Given the description of an element on the screen output the (x, y) to click on. 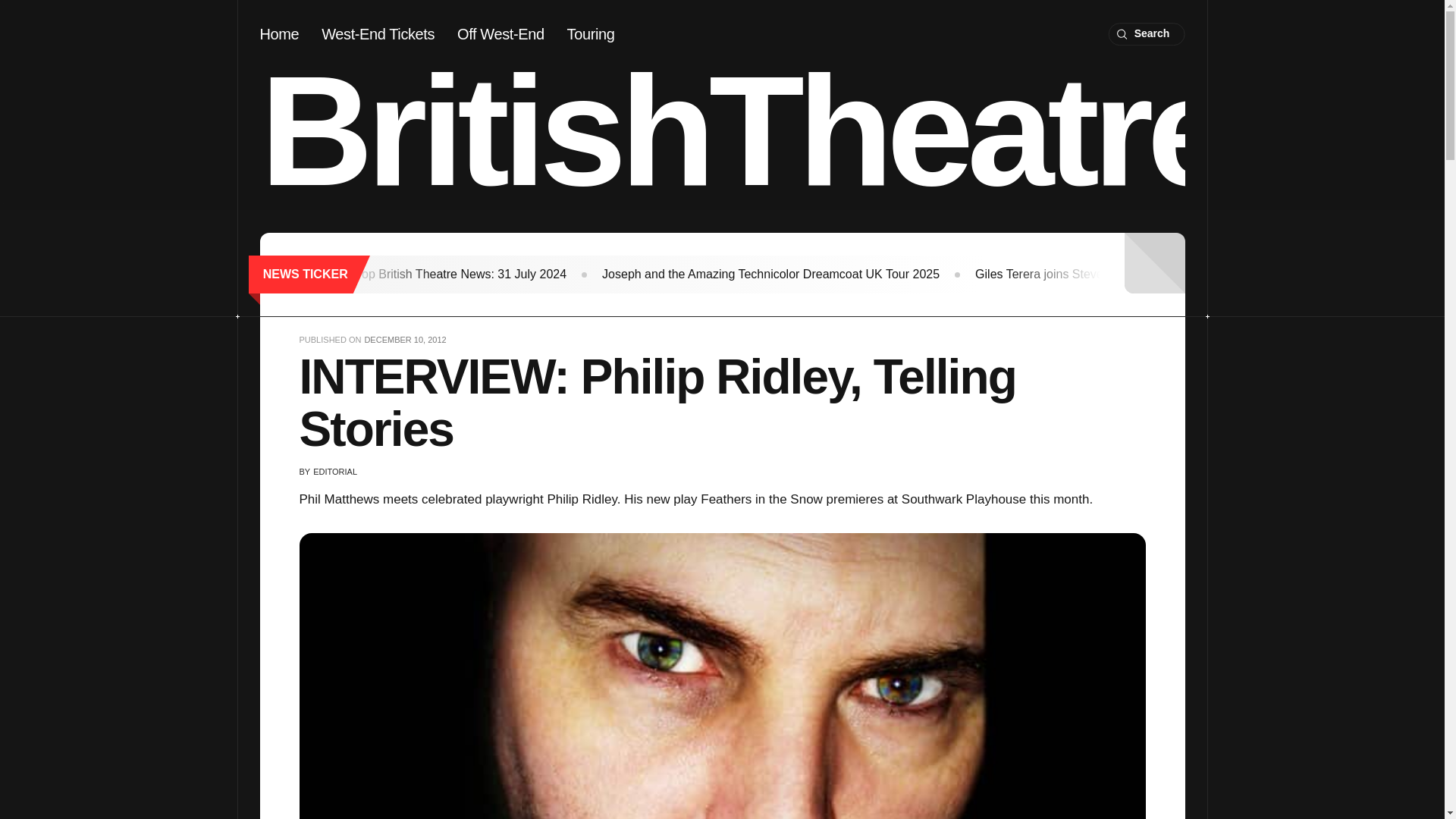
Joseph and the Amazing Technicolor Dreamcoat UK Tour 2025 (770, 273)
Touring (590, 33)
Top British Theatre News: 31 July 2024 (460, 273)
Off West-End (500, 33)
Home (278, 33)
West-End Tickets (377, 33)
